Given the description of an element on the screen output the (x, y) to click on. 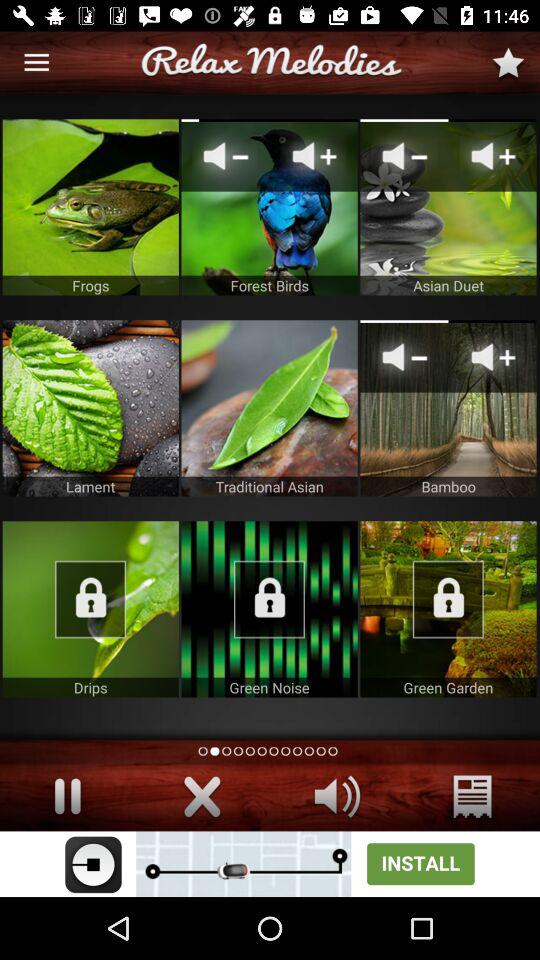
advertisement (270, 864)
